Given the description of an element on the screen output the (x, y) to click on. 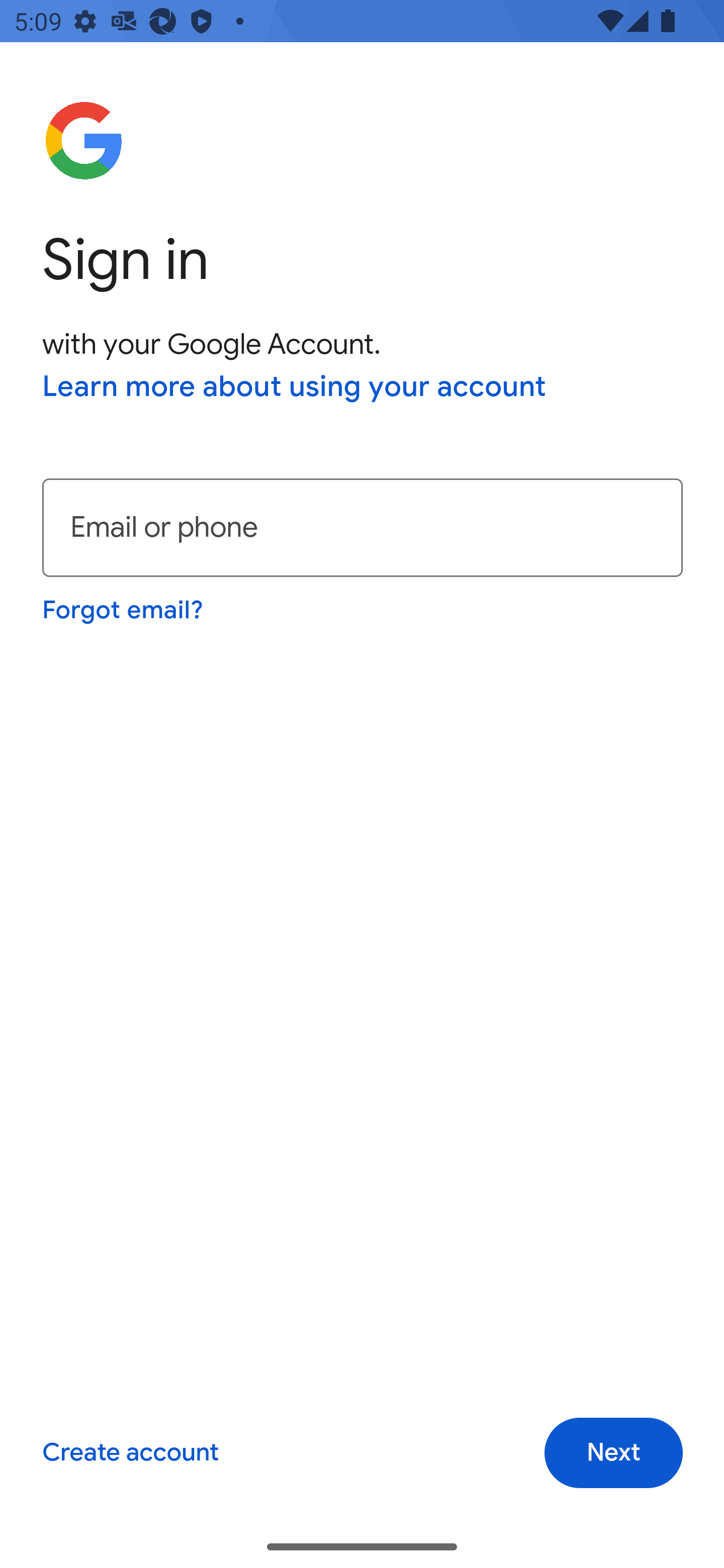
Learn more about using your account (294, 388)
Forgot email? (123, 609)
Create account (129, 1453)
Next (613, 1453)
